Given the description of an element on the screen output the (x, y) to click on. 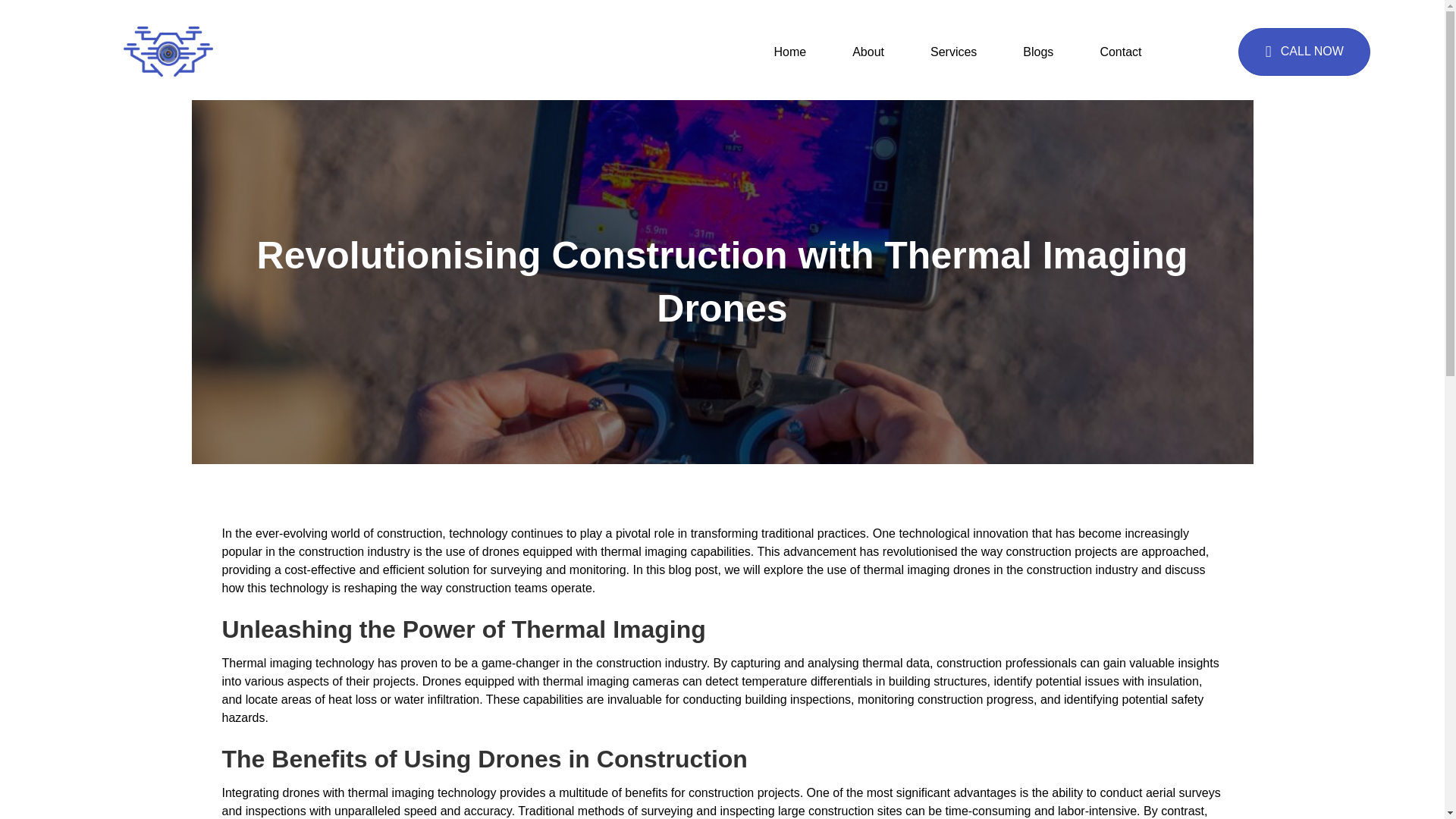
Home (789, 51)
CALL NOW (1304, 51)
Services (952, 51)
Group 12 (167, 51)
About (868, 51)
Contact (1120, 51)
Blogs (1037, 51)
